Given the description of an element on the screen output the (x, y) to click on. 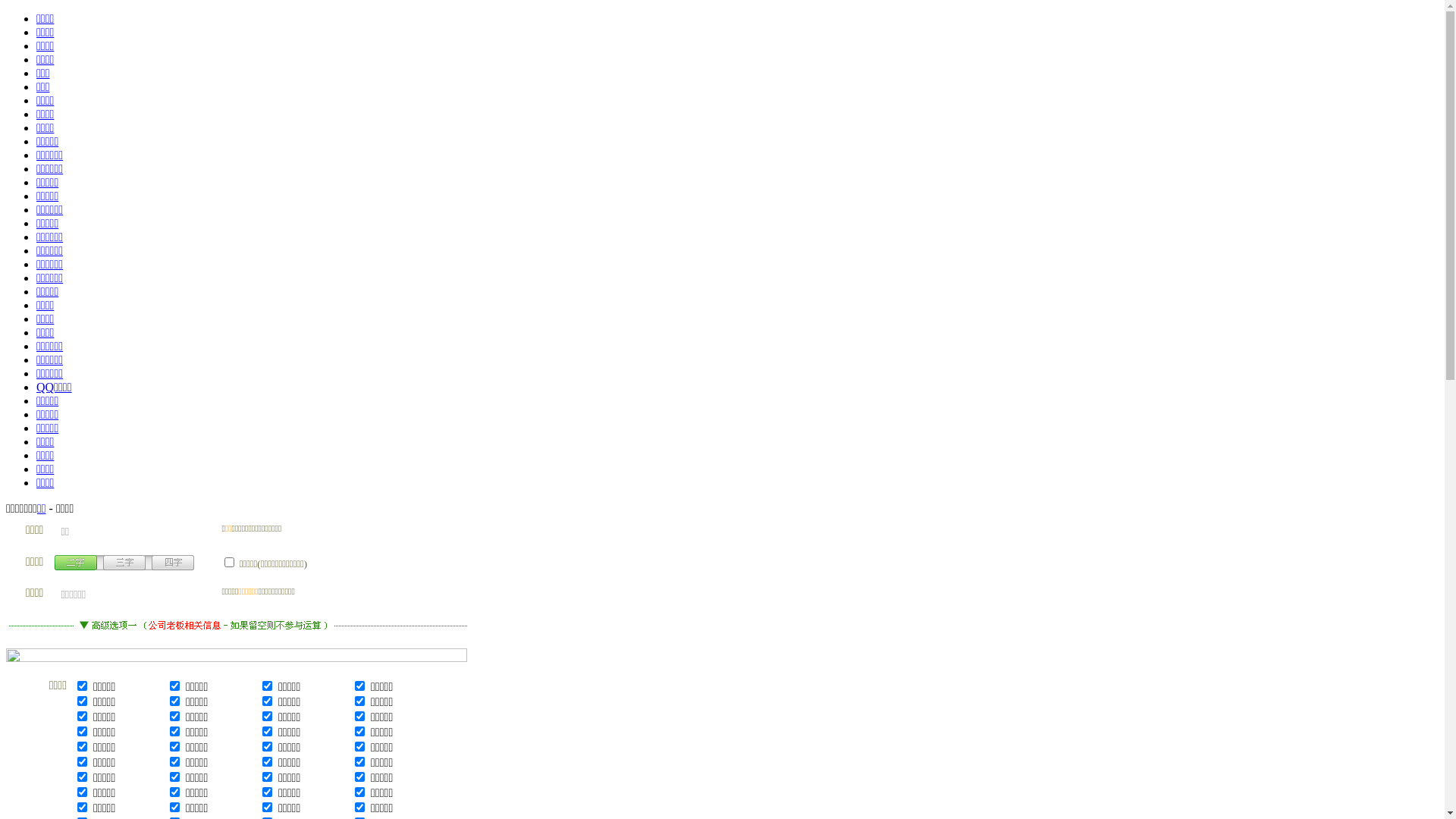
on Element type: text (229, 562)
